Given the description of an element on the screen output the (x, y) to click on. 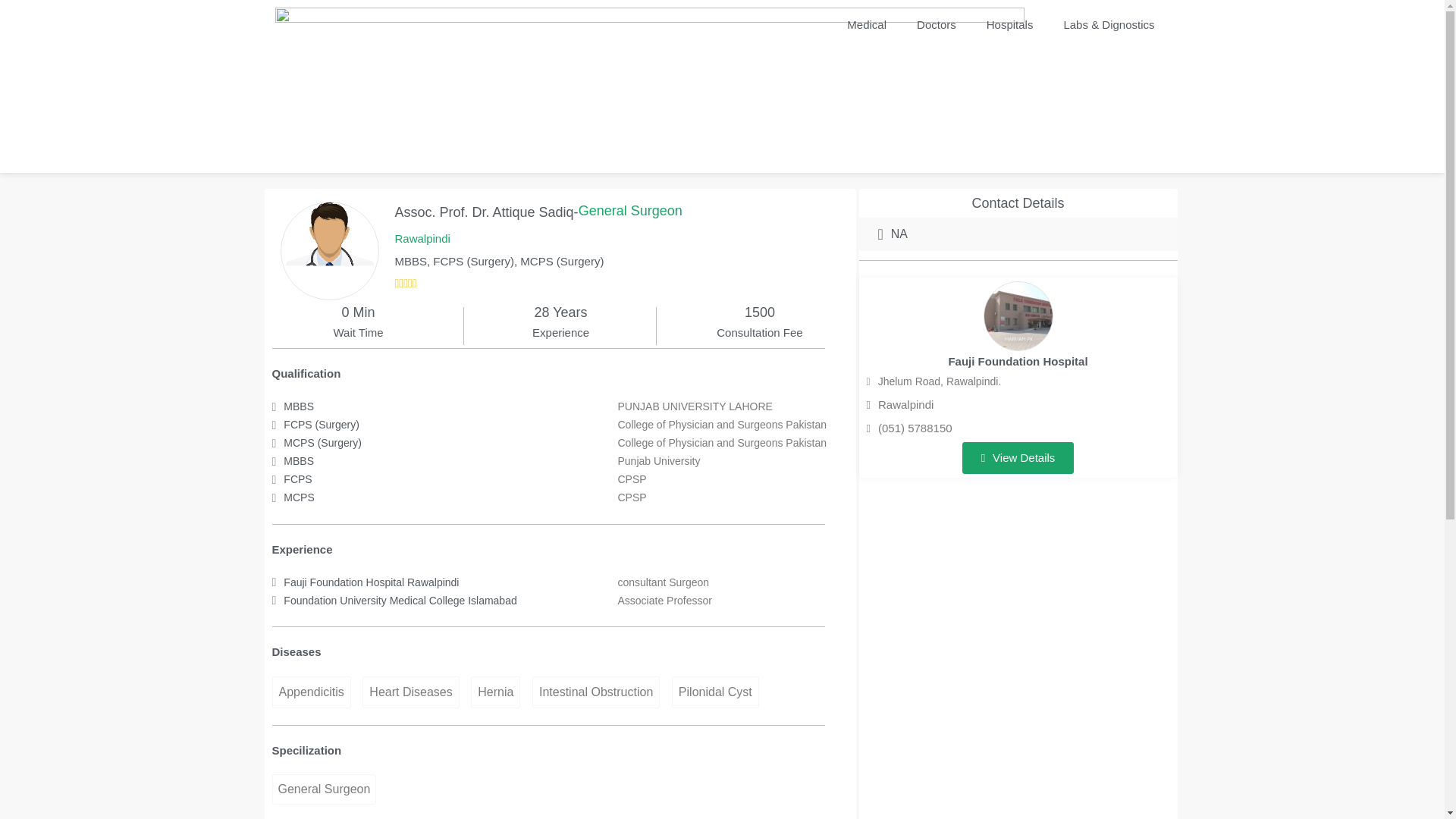
Medical (866, 24)
Doctors (936, 24)
General Surgeon (322, 788)
Heart Diseases (410, 692)
Jhelum Road, Rawalpindi. (934, 381)
Intestinal Obstruction (595, 692)
Appendicitis (310, 692)
View Details (1018, 458)
Rawalpindi (900, 404)
Fauji Foundation Hospital (1017, 360)
